Given the description of an element on the screen output the (x, y) to click on. 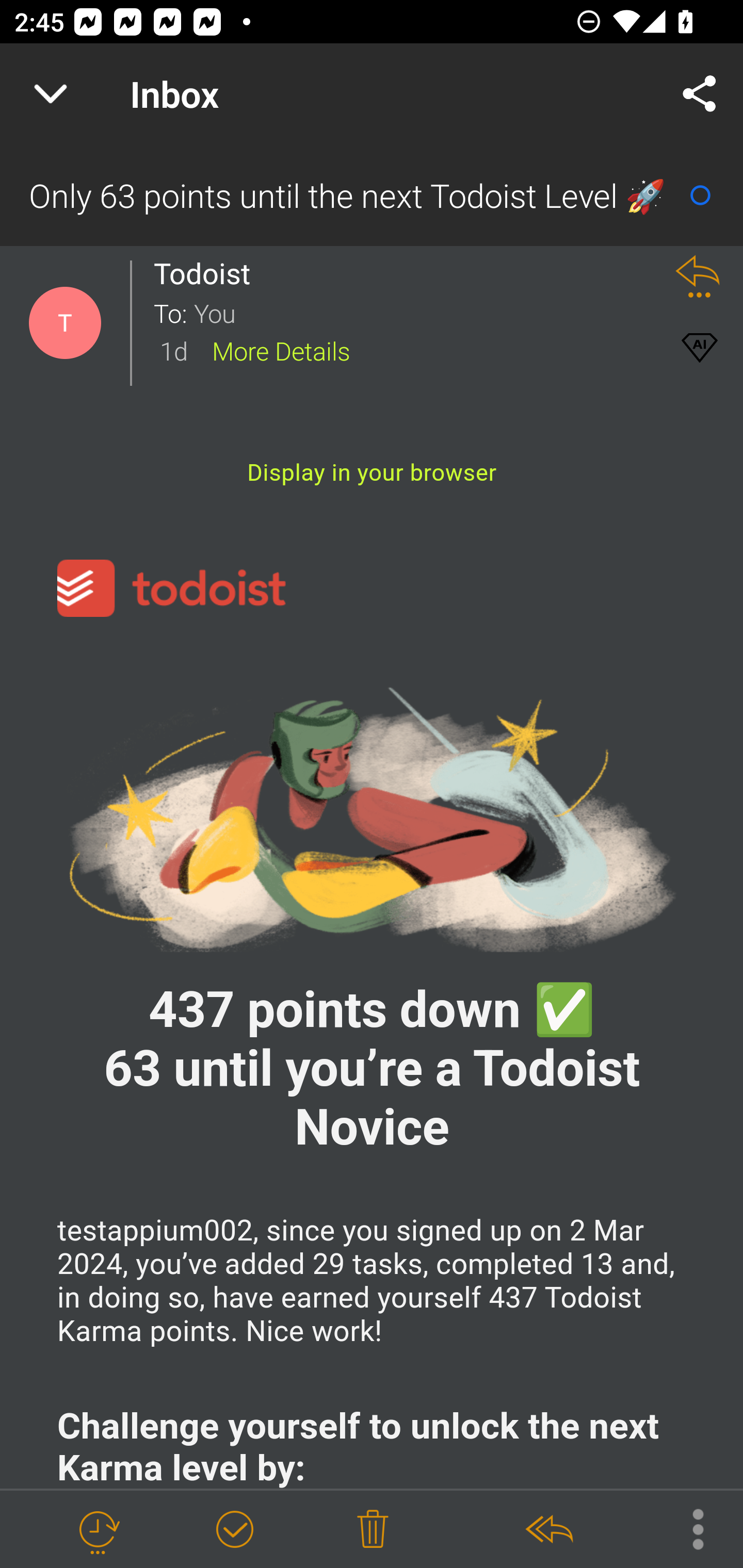
Navigate up (50, 93)
Share (699, 93)
Mark as Read (699, 194)
Todoist (207, 273)
Contact Details (64, 322)
More Details (280, 349)
Display in your browser (371, 472)
More Options (687, 1528)
Snooze (97, 1529)
Mark as Done (234, 1529)
Delete (372, 1529)
Reply All (548, 1529)
